Given the description of an element on the screen output the (x, y) to click on. 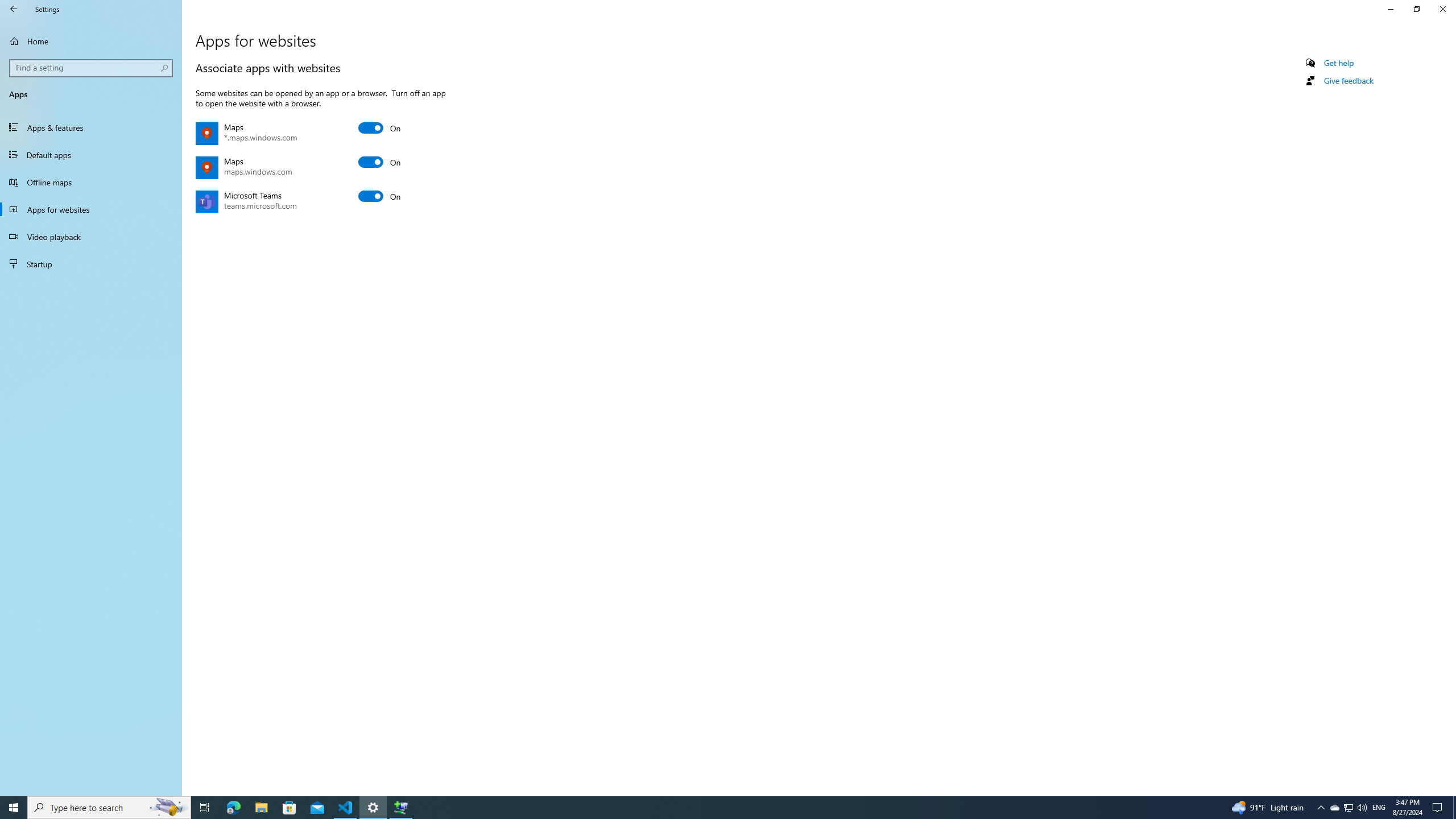
Video playback (91, 236)
Apps for websites (91, 208)
Microsoft Teams (379, 195)
Running applications (706, 807)
Home (91, 40)
Maps (379, 162)
Offline maps (91, 181)
Startup (91, 263)
Default apps (91, 154)
